Given the description of an element on the screen output the (x, y) to click on. 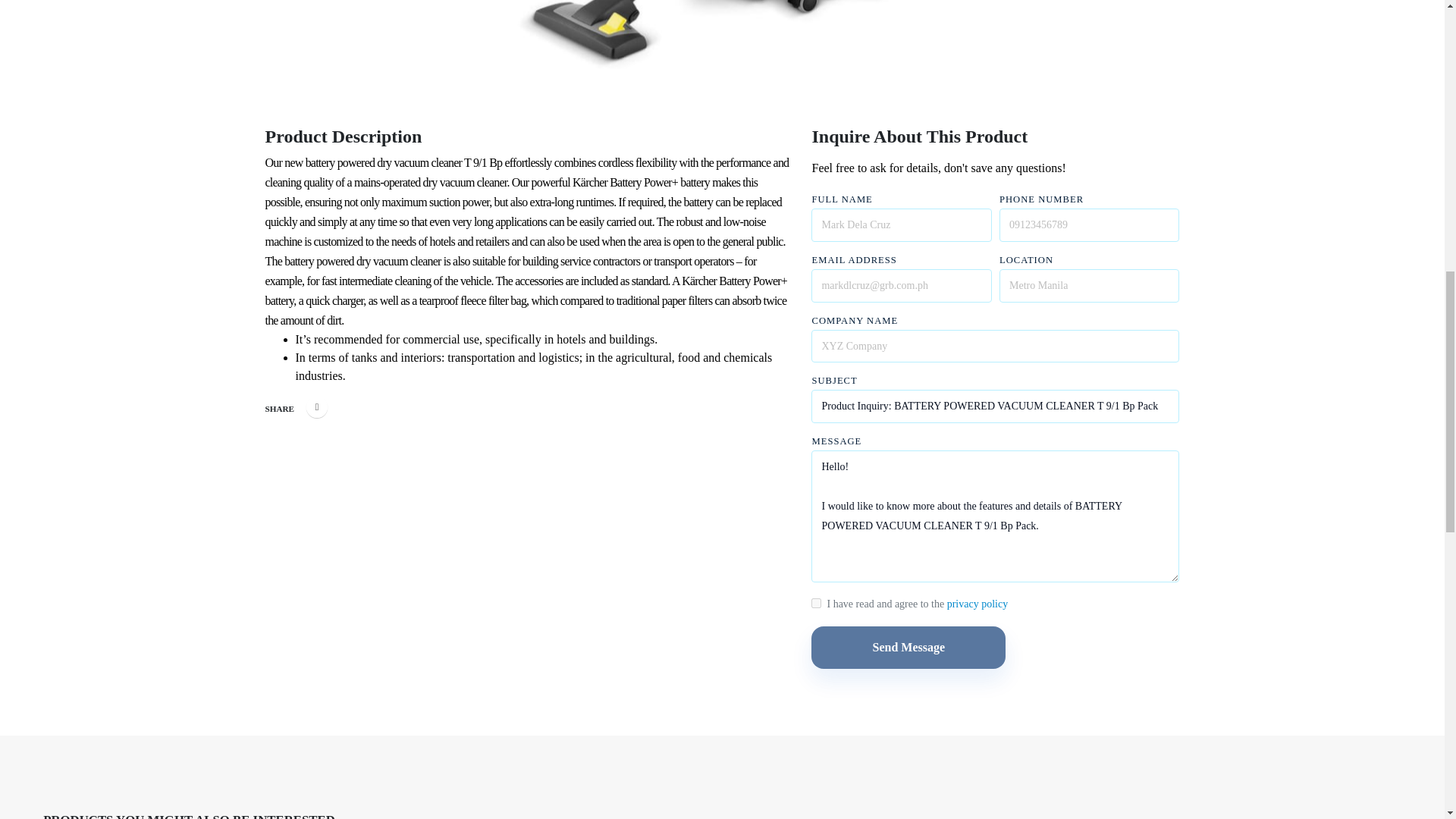
on (815, 602)
Send Message (908, 647)
Facebook (316, 406)
Send Message (908, 647)
privacy policy (977, 603)
